Given the description of an element on the screen output the (x, y) to click on. 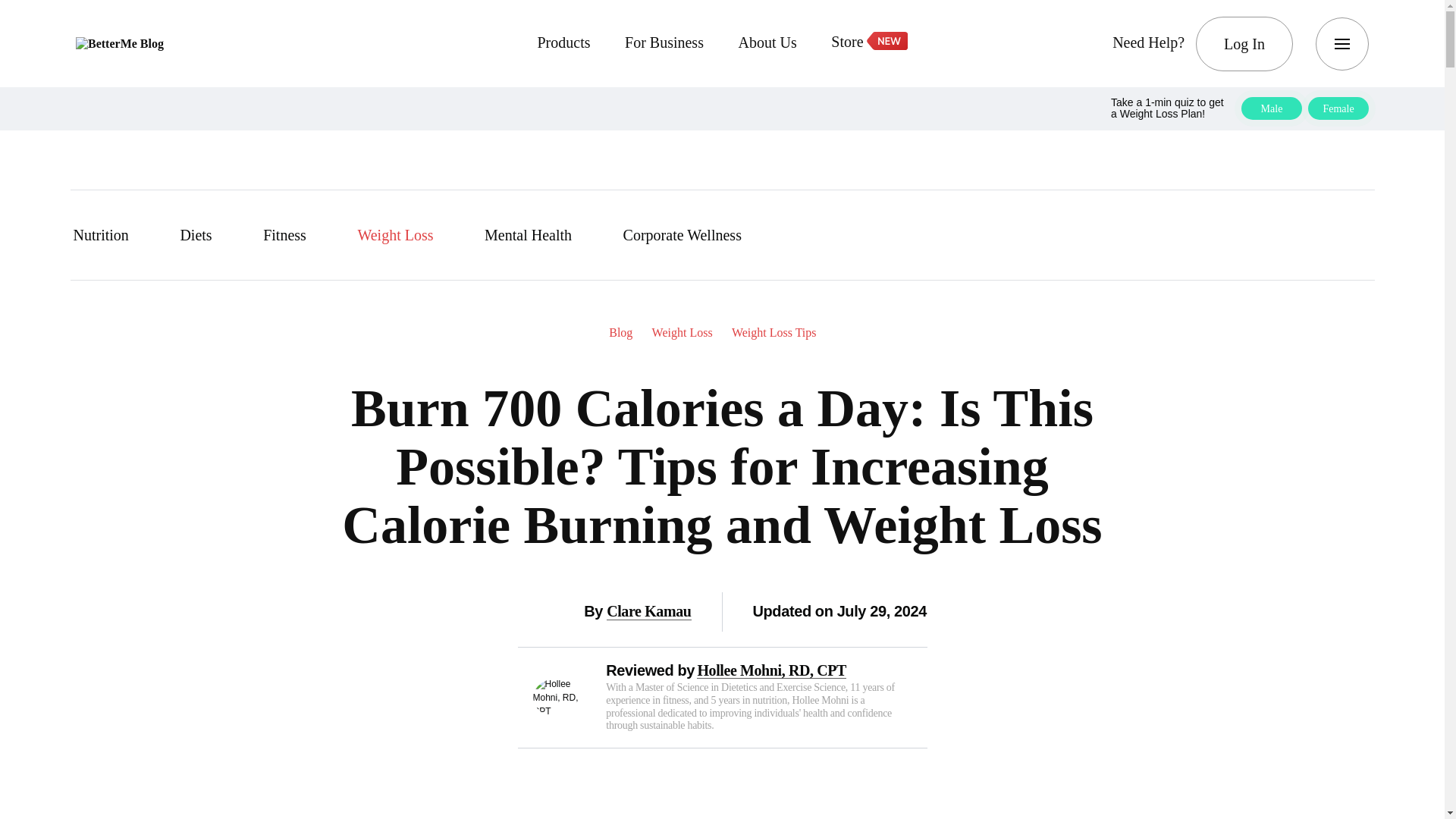
Female (1337, 108)
For Business (664, 44)
Log In (1243, 43)
Nutrition (109, 235)
Fitness (292, 235)
Products (563, 44)
Need Help? (1147, 44)
Store (868, 43)
Male (1271, 108)
About Us (767, 44)
